Given the description of an element on the screen output the (x, y) to click on. 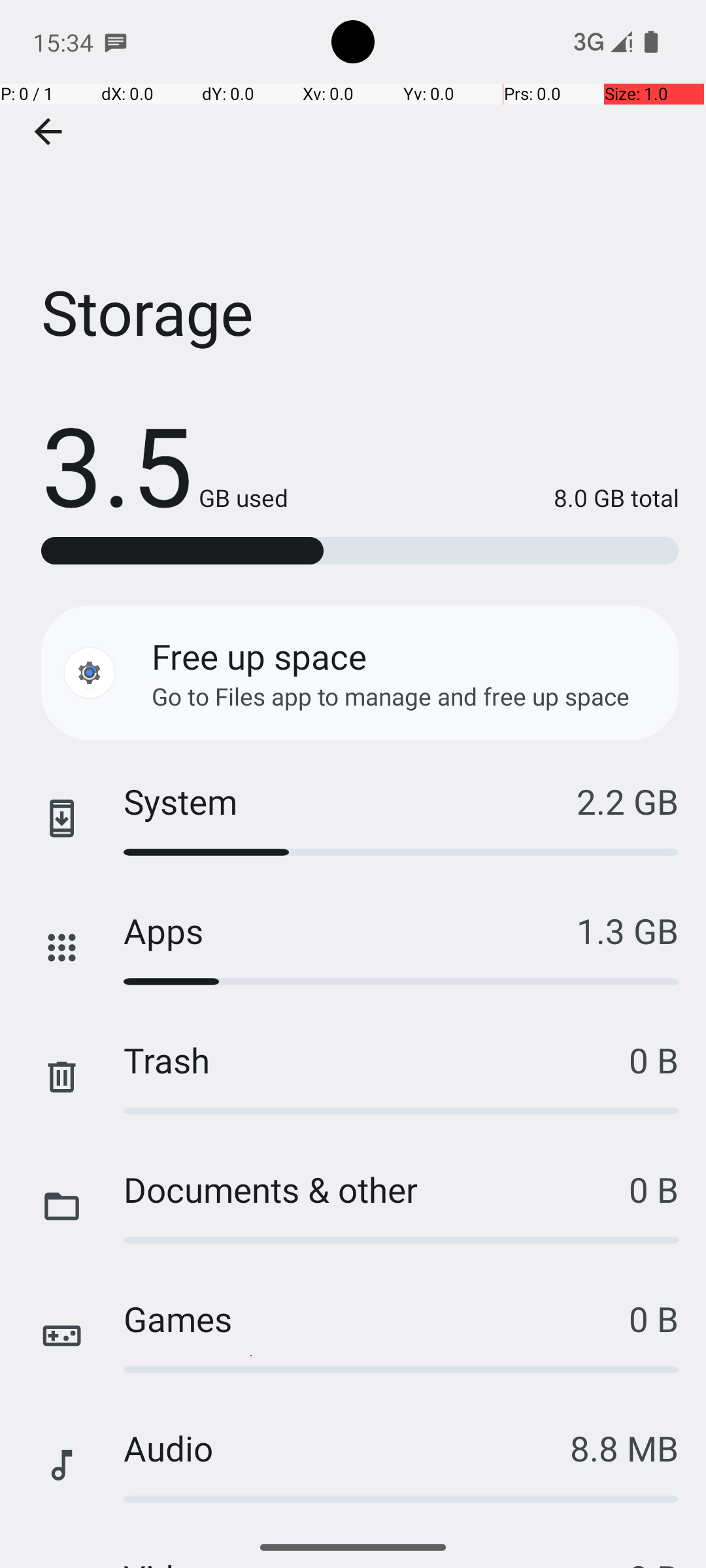
3.5 GB used Element type: android.widget.TextView (164, 463)
8.0 GB total Element type: android.widget.TextView (483, 497)
Free up space Element type: android.widget.TextView (258, 656)
Go to Files app to manage and free up space Element type: android.widget.TextView (390, 695)
2.2 GB Element type: android.widget.TextView (627, 801)
1.3 GB Element type: android.widget.TextView (627, 930)
Trash Element type: android.widget.TextView (375, 1059)
0 B Element type: android.widget.TextView (653, 1059)
Documents & other Element type: android.widget.TextView (375, 1189)
Games Element type: android.widget.TextView (375, 1318)
8.8 MB Element type: android.widget.TextView (624, 1447)
